Given the description of an element on the screen output the (x, y) to click on. 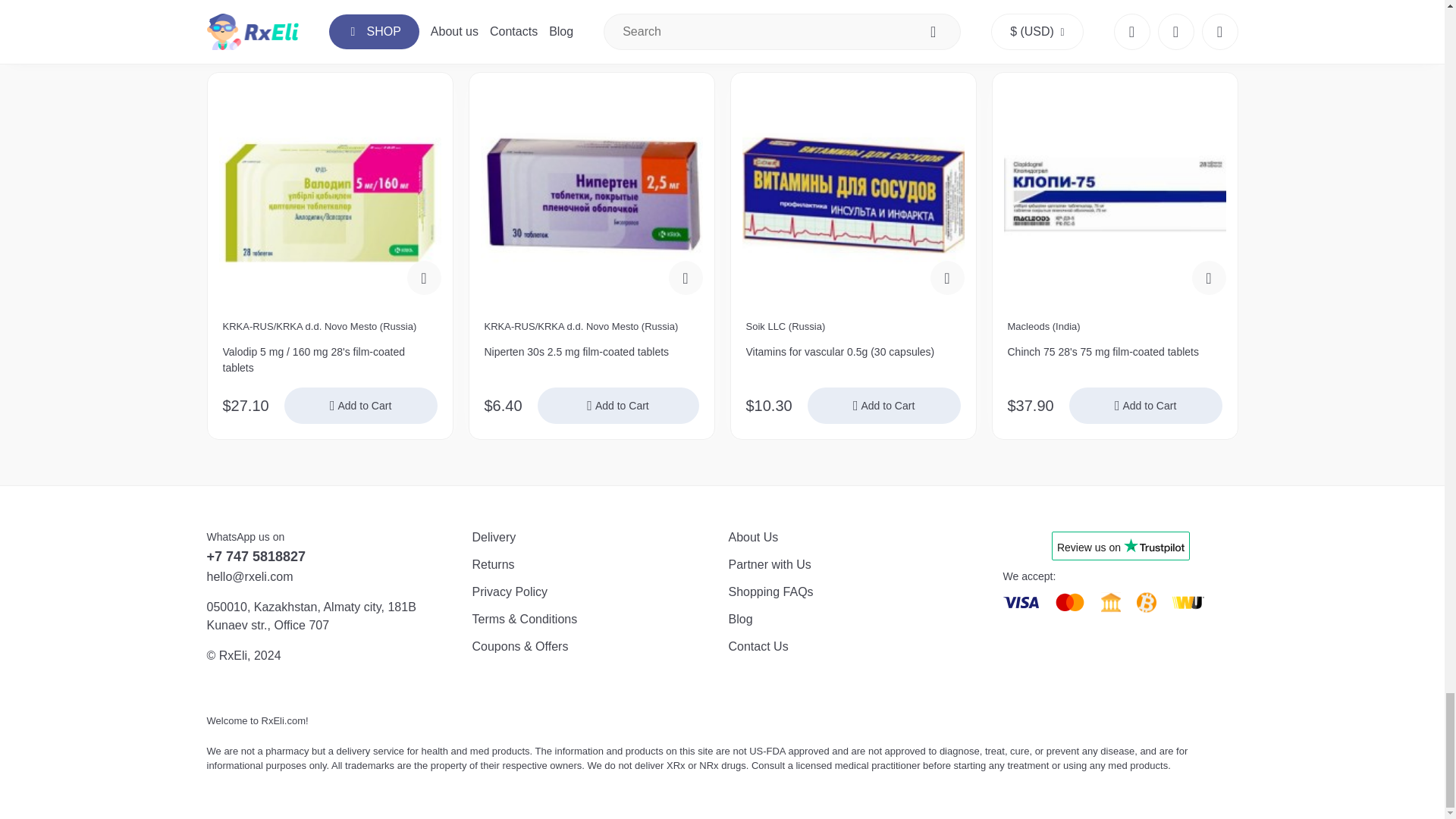
Niperten 30s 2.5 mg film-coated tablets (591, 195)
Niperten 30s 2.5 mg film-coated tablets (590, 359)
